Given the description of an element on the screen output the (x, y) to click on. 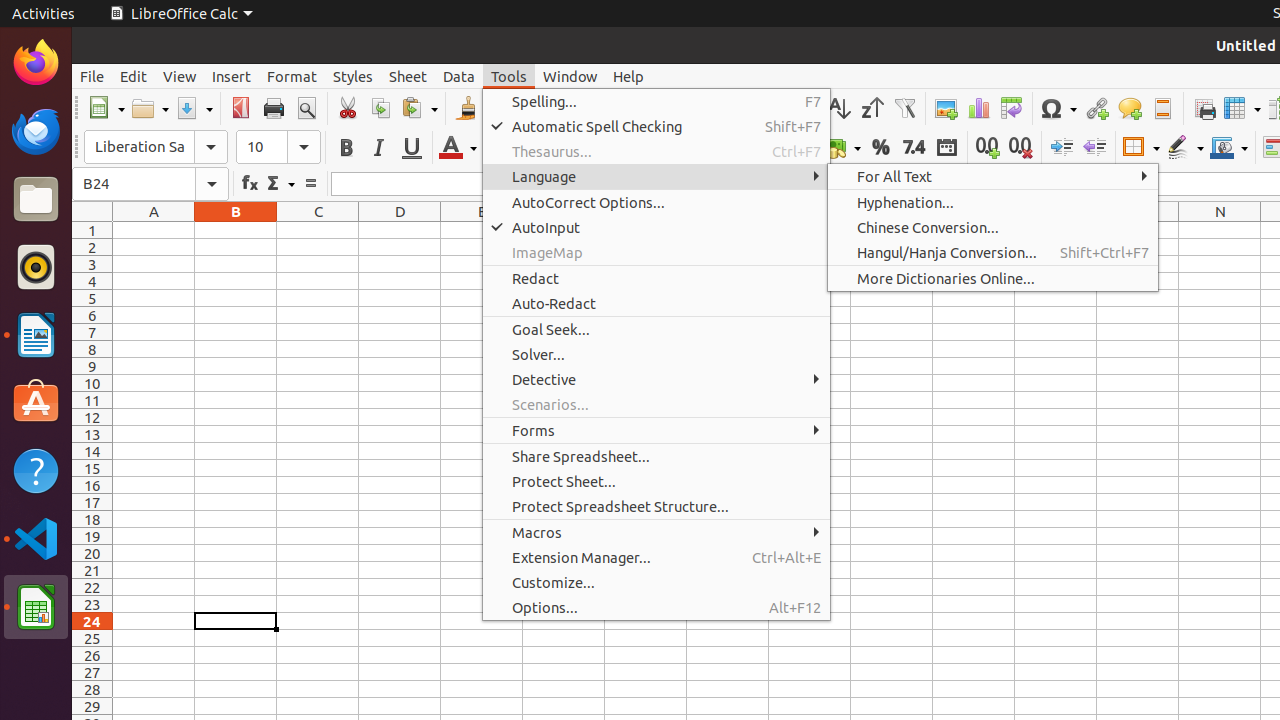
AutoCorrect Options... Element type: menu-item (656, 202)
Insert Element type: menu (231, 76)
Macros Element type: menu (656, 532)
Forms Element type: menu (656, 430)
New Element type: push-button (106, 108)
